Given the description of an element on the screen output the (x, y) to click on. 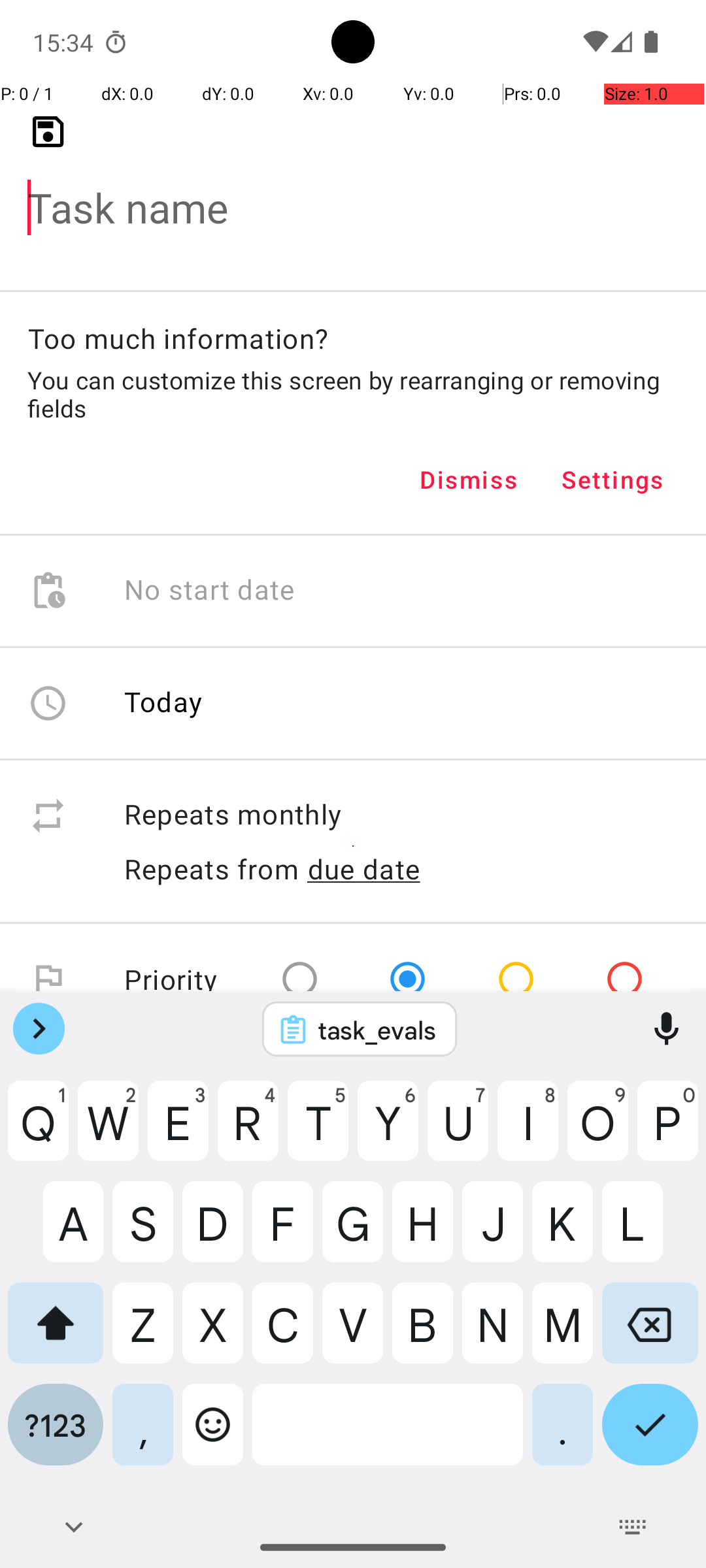
Repeats monthly Element type: android.widget.TextView (400, 815)
